Given the description of an element on the screen output the (x, y) to click on. 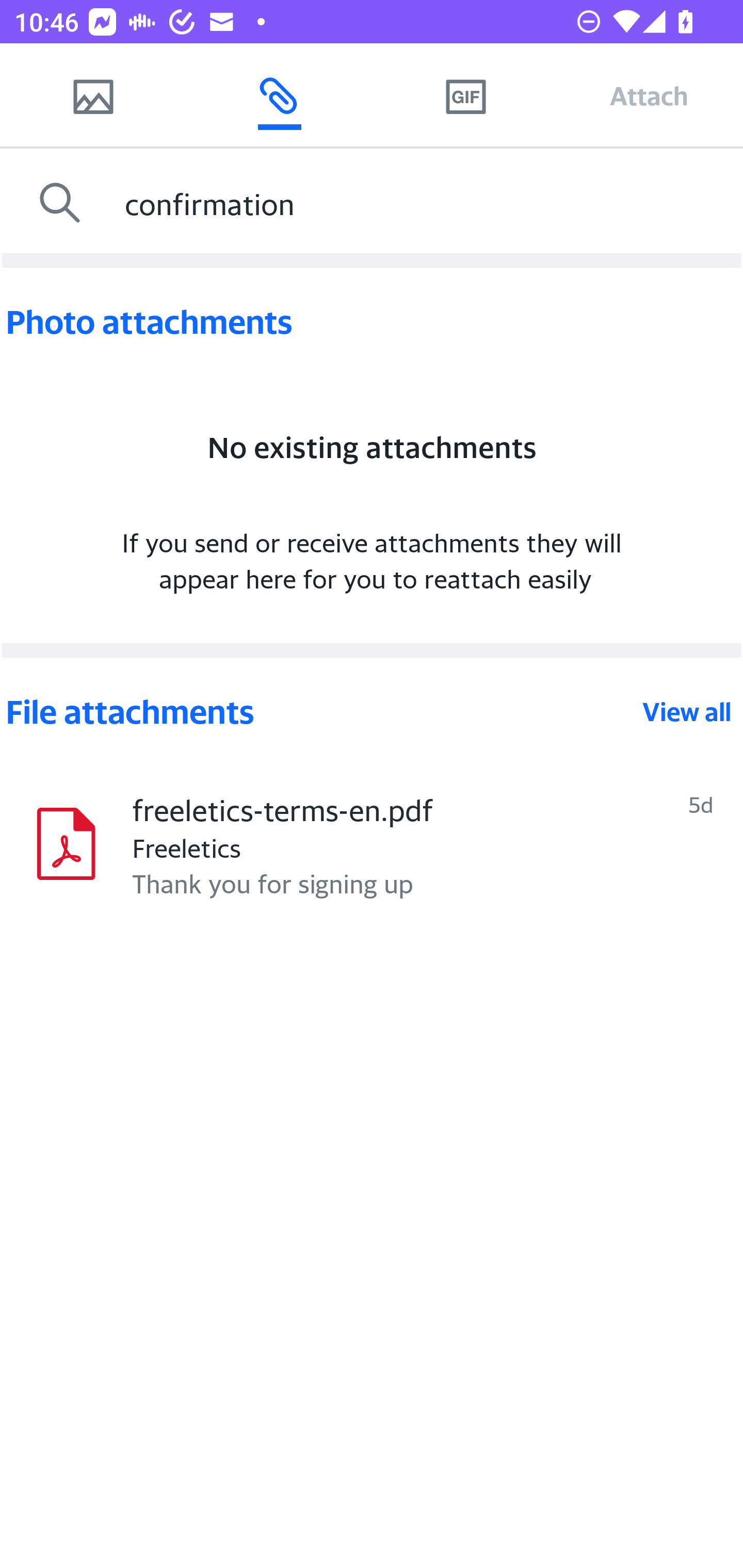
Camera photos (93, 95)
Recent attachments from mail (279, 95)
GIFs (465, 95)
Attach (649, 95)
confirmation (428, 203)
Photo attachments (371, 322)
File attachments (321, 711)
View all (686, 711)
